Given the description of an element on the screen output the (x, y) to click on. 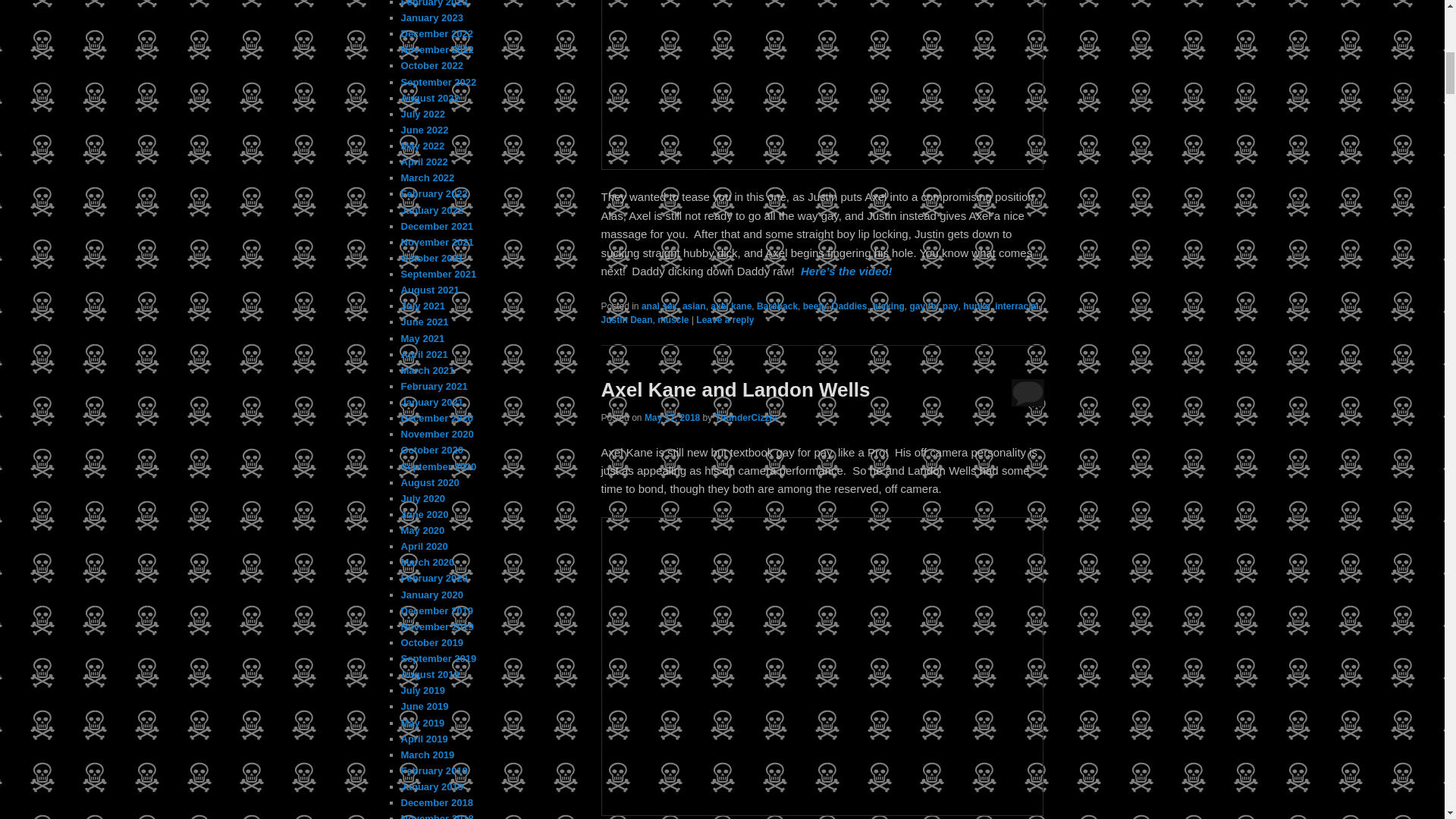
ThunderCizzle (745, 417)
asian (694, 306)
anal sex (659, 306)
Bareback (777, 306)
interracial (1016, 306)
gay for pay (933, 306)
hunks (976, 306)
beefy (815, 306)
muscle (673, 319)
Justin Dean (625, 319)
